Given the description of an element on the screen output the (x, y) to click on. 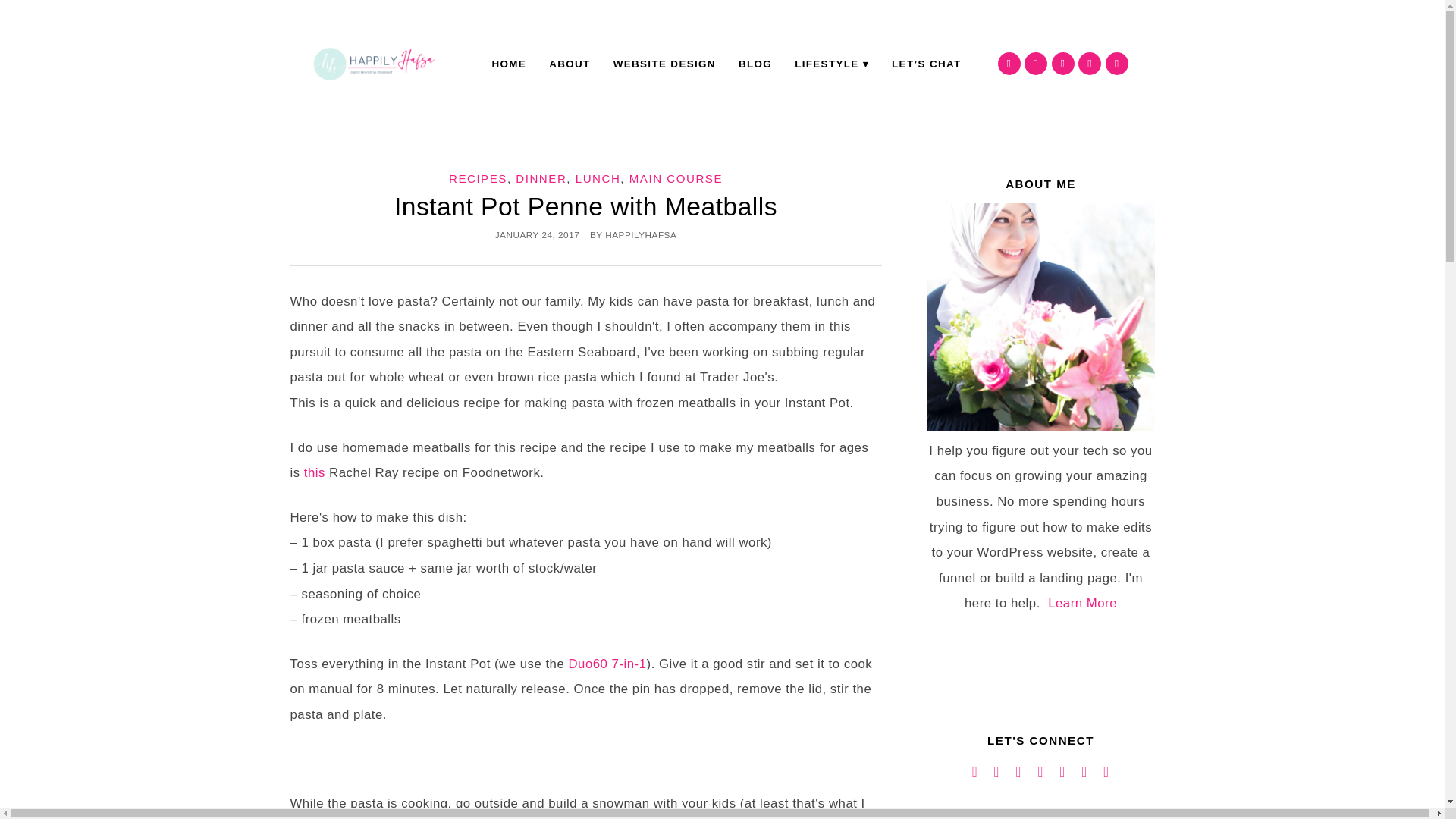
this (314, 472)
DINNER (540, 178)
ABOUT (569, 63)
LIFESTYLE (831, 63)
BLOG (754, 63)
Duo60 7-in-1 (606, 663)
LUNCH (598, 178)
RECIPES (477, 178)
Learn More (1082, 603)
Instant Pot Penne with Meatballs (585, 206)
MAIN COURSE (675, 178)
HOME (508, 63)
WEBSITE DESIGN (664, 63)
Instant Pot Penne with Meatballs (585, 206)
